Given the description of an element on the screen output the (x, y) to click on. 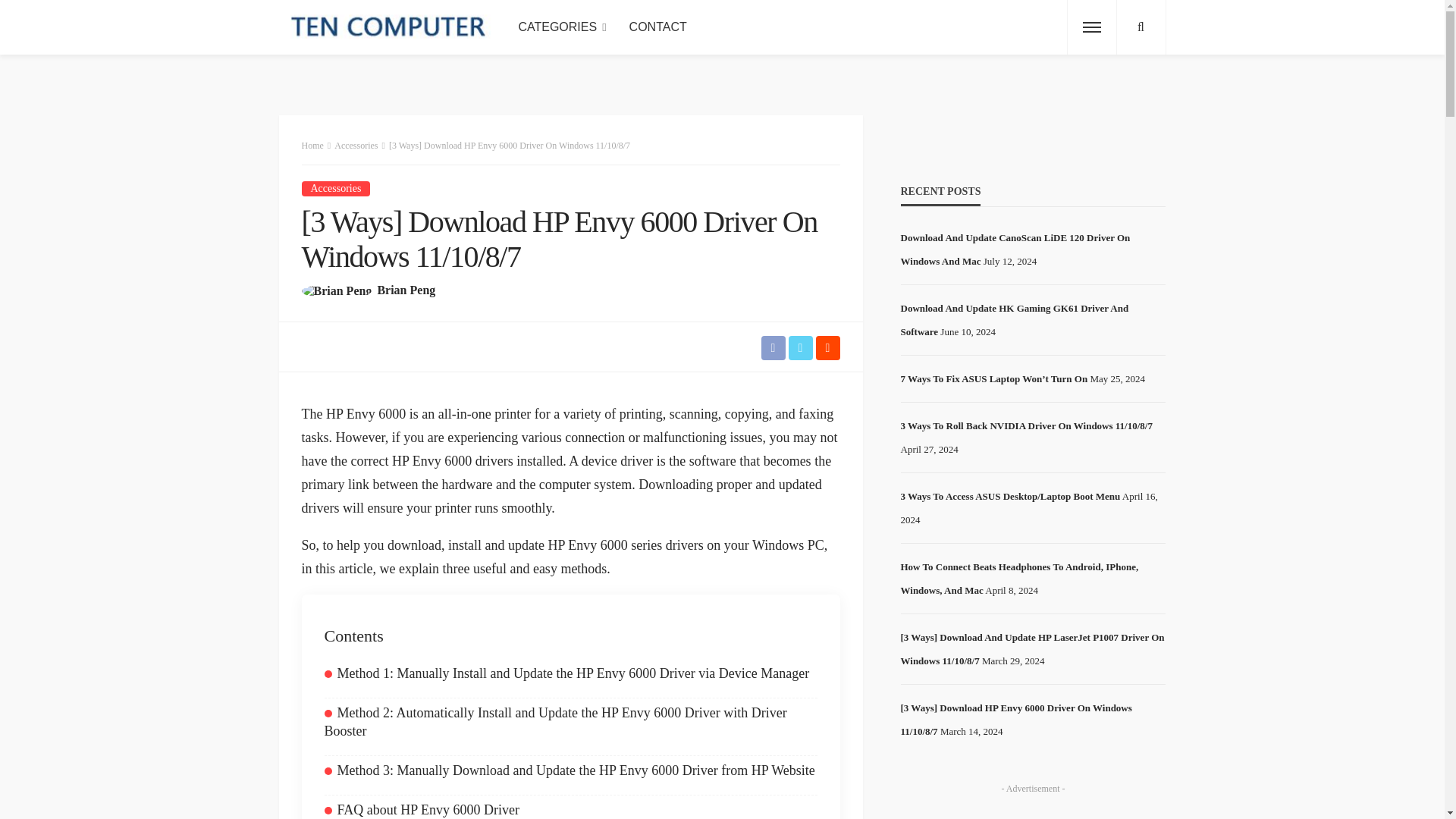
Accessories (336, 188)
CATEGORIES (561, 27)
Ten Computer (389, 27)
Accessories (336, 188)
Brian Peng (406, 290)
Home (312, 145)
Accessories (355, 145)
CONTACT (657, 27)
